Given the description of an element on the screen output the (x, y) to click on. 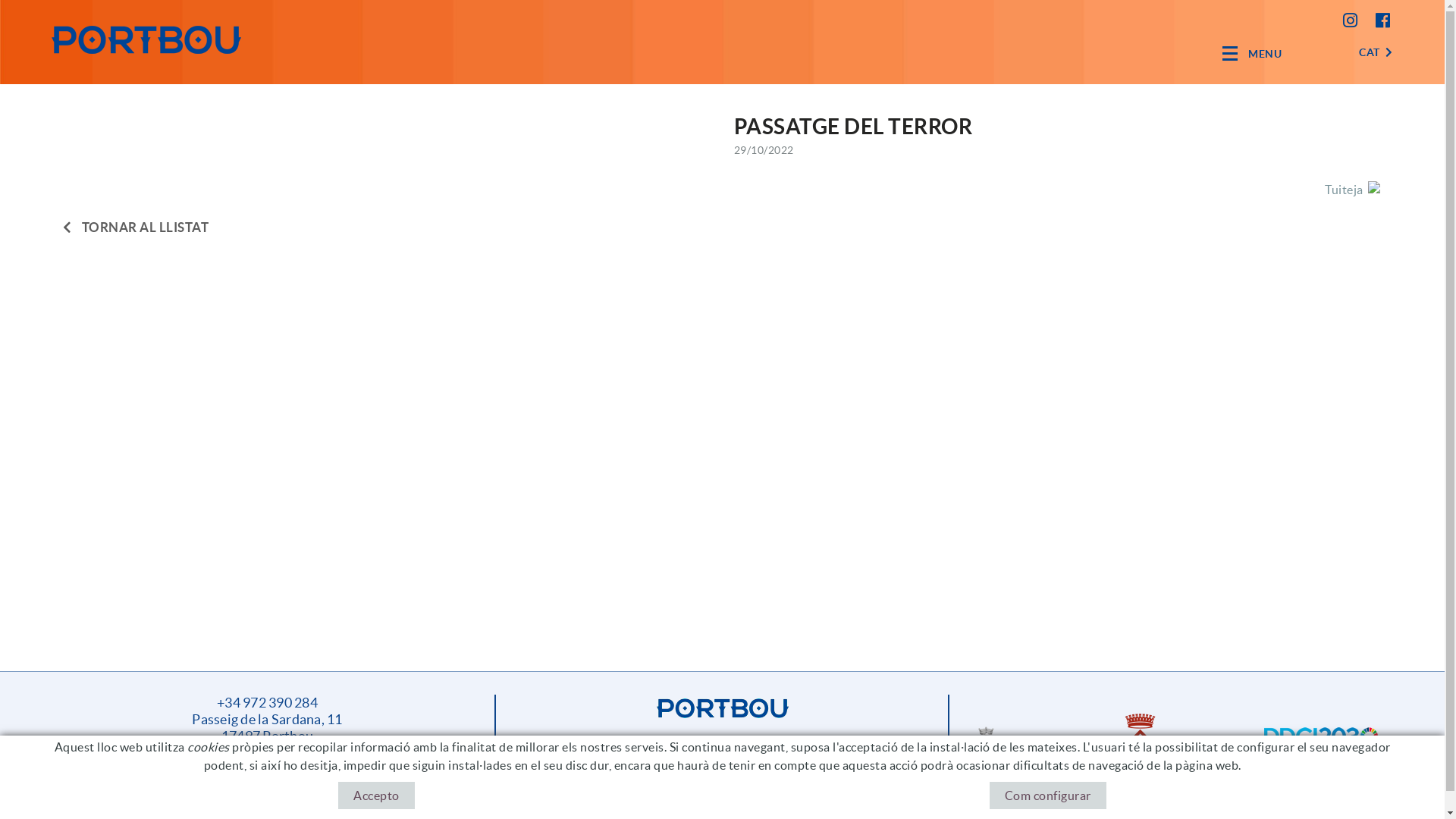
Tuiteja Element type: text (1343, 188)
hola@visitportbou.cat Element type: text (721, 741)
TORNAR AL LLISTAT Element type: text (135, 226)
CAT Element type: text (1375, 51)
MENU Element type: text (1251, 53)
Com configurar Element type: text (1047, 795)
